Given the description of an element on the screen output the (x, y) to click on. 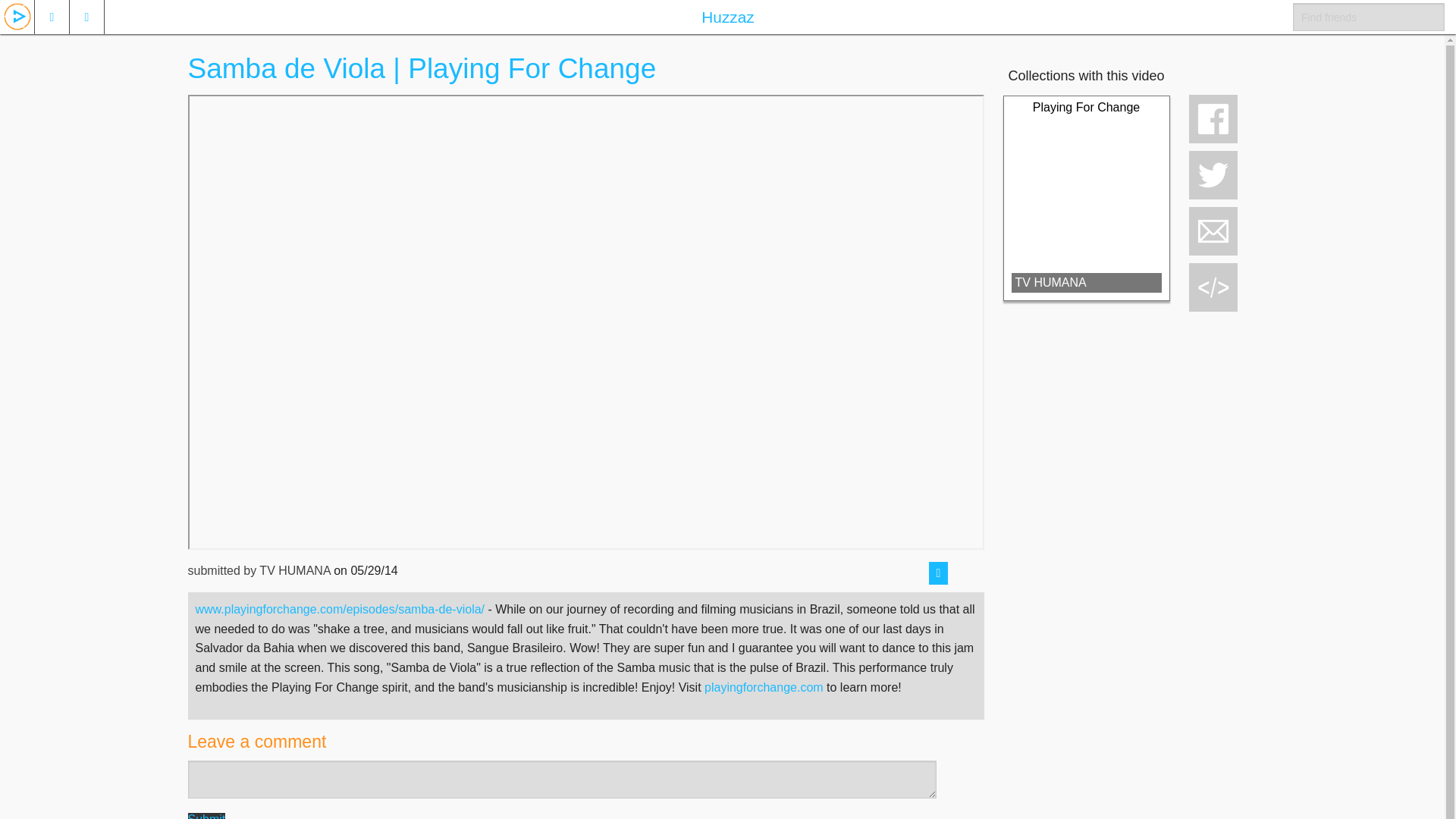
Playing For Change (1086, 106)
Submit (206, 816)
Huzzaz (727, 16)
TV HUMANA (1086, 282)
Playing For Change (1086, 106)
playingforchange.com (764, 686)
